Given the description of an element on the screen output the (x, y) to click on. 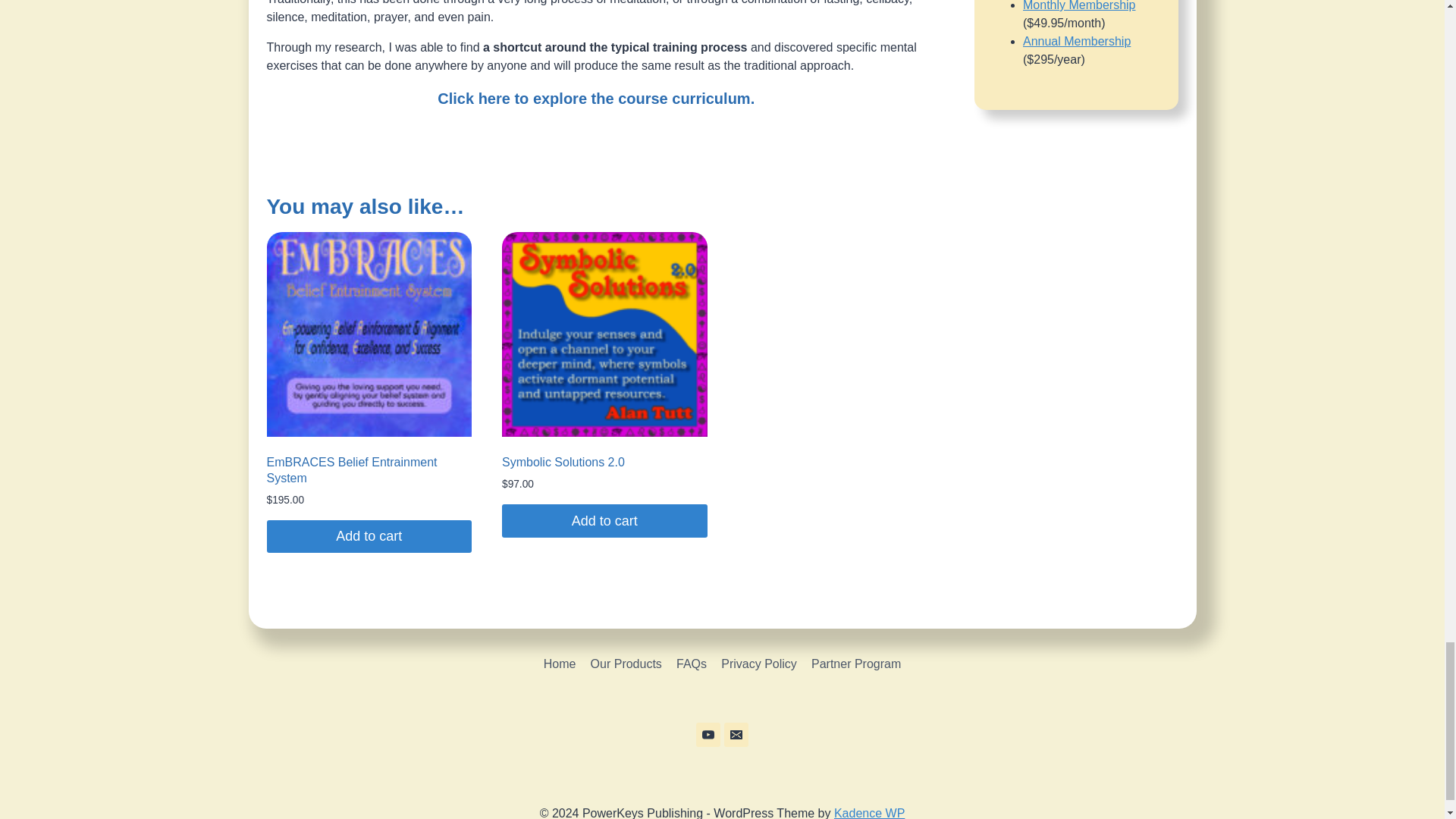
Symbolic Solutions 2.0 (563, 461)
EmBRACES Belief Entrainment System (352, 469)
Partner Program (855, 664)
Click here to explore the course curriculum. (596, 98)
Add to cart (368, 536)
Privacy Policy (759, 664)
Home (559, 664)
Kadence WP (869, 812)
Add to cart (604, 520)
Our Products (625, 664)
